Given the description of an element on the screen output the (x, y) to click on. 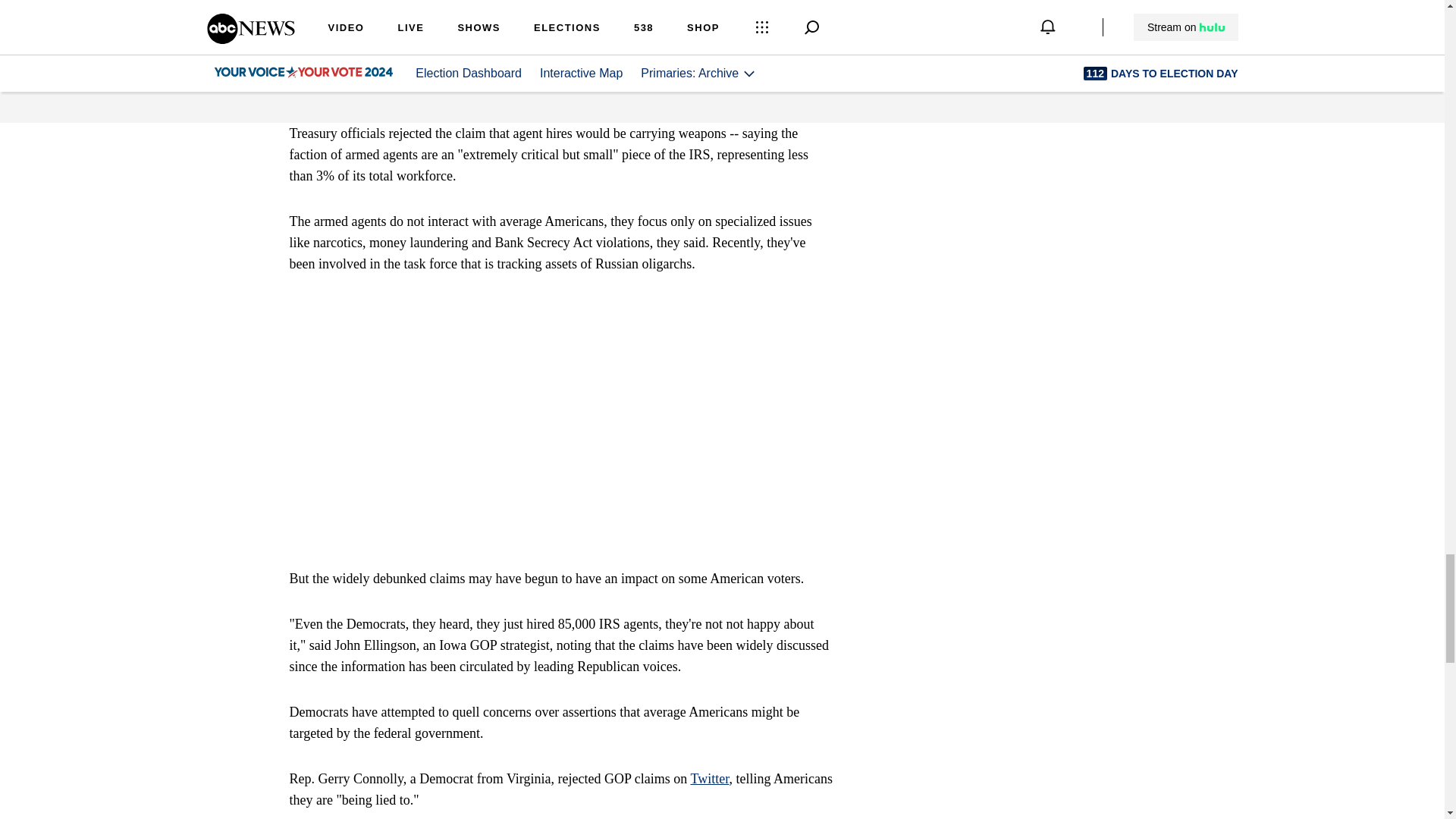
taxes (451, 66)
